Given the description of an element on the screen output the (x, y) to click on. 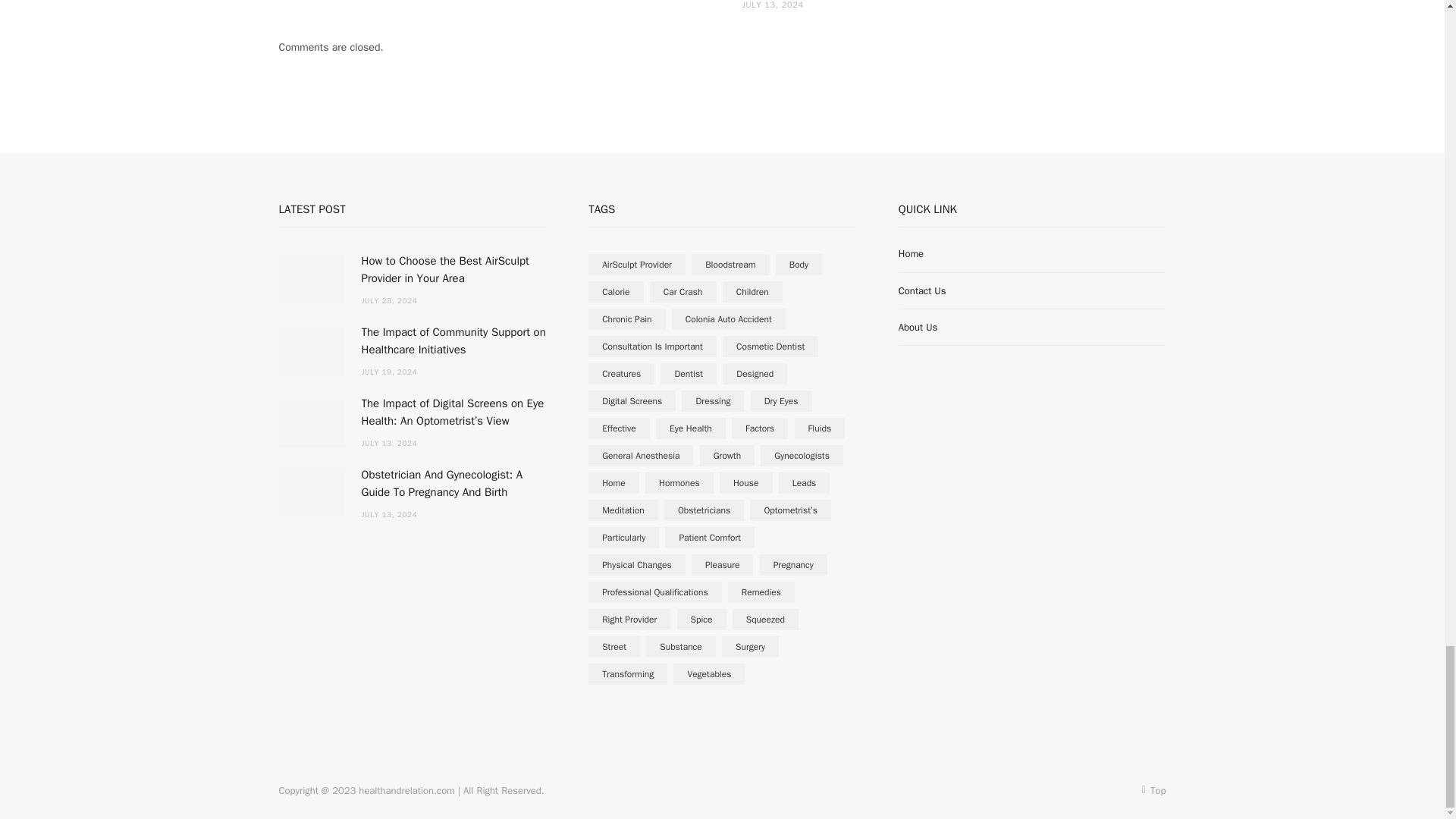
JULY 13, 2024 (772, 4)
